Given the description of an element on the screen output the (x, y) to click on. 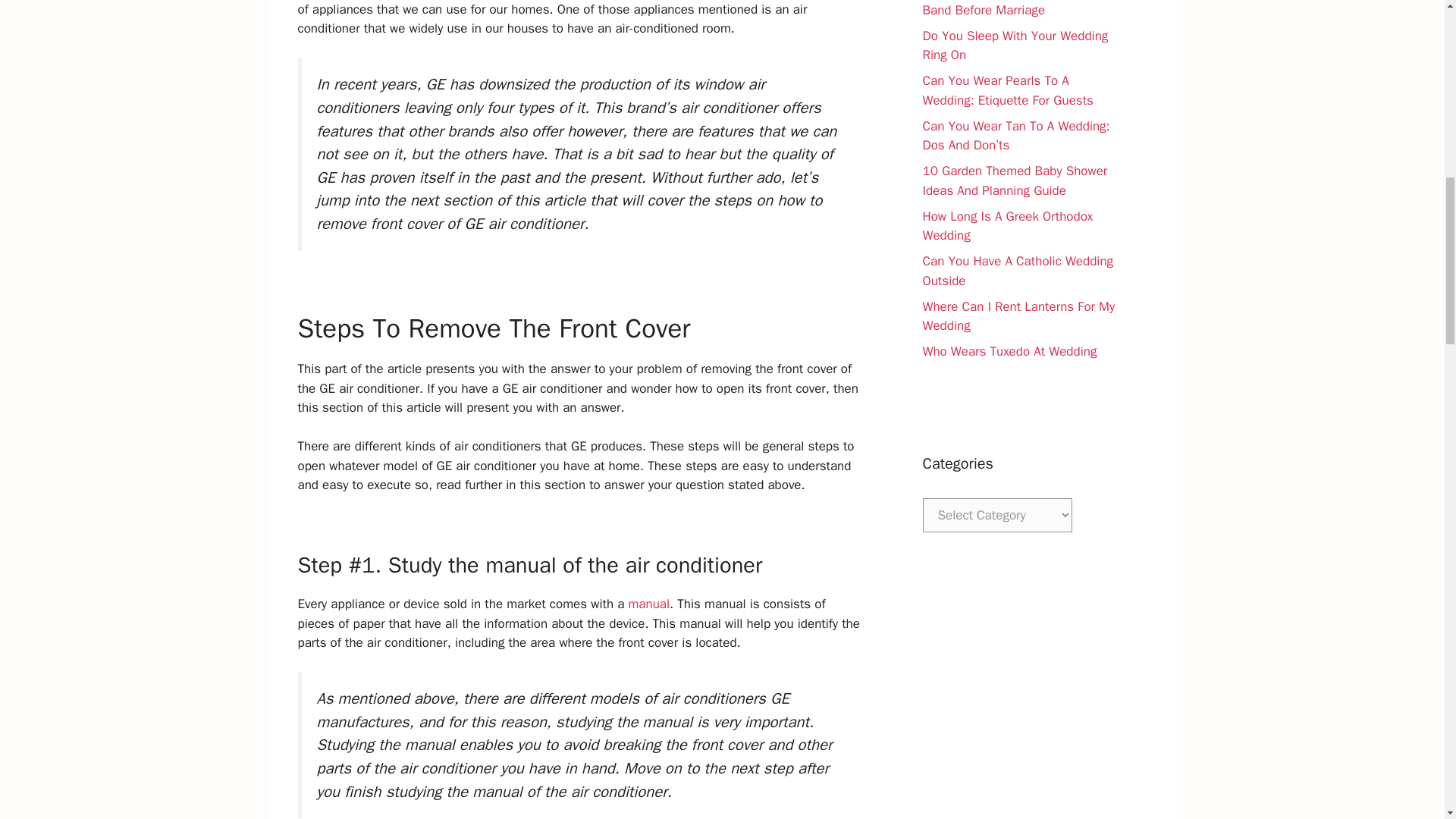
Scroll back to top (1406, 720)
